Given the description of an element on the screen output the (x, y) to click on. 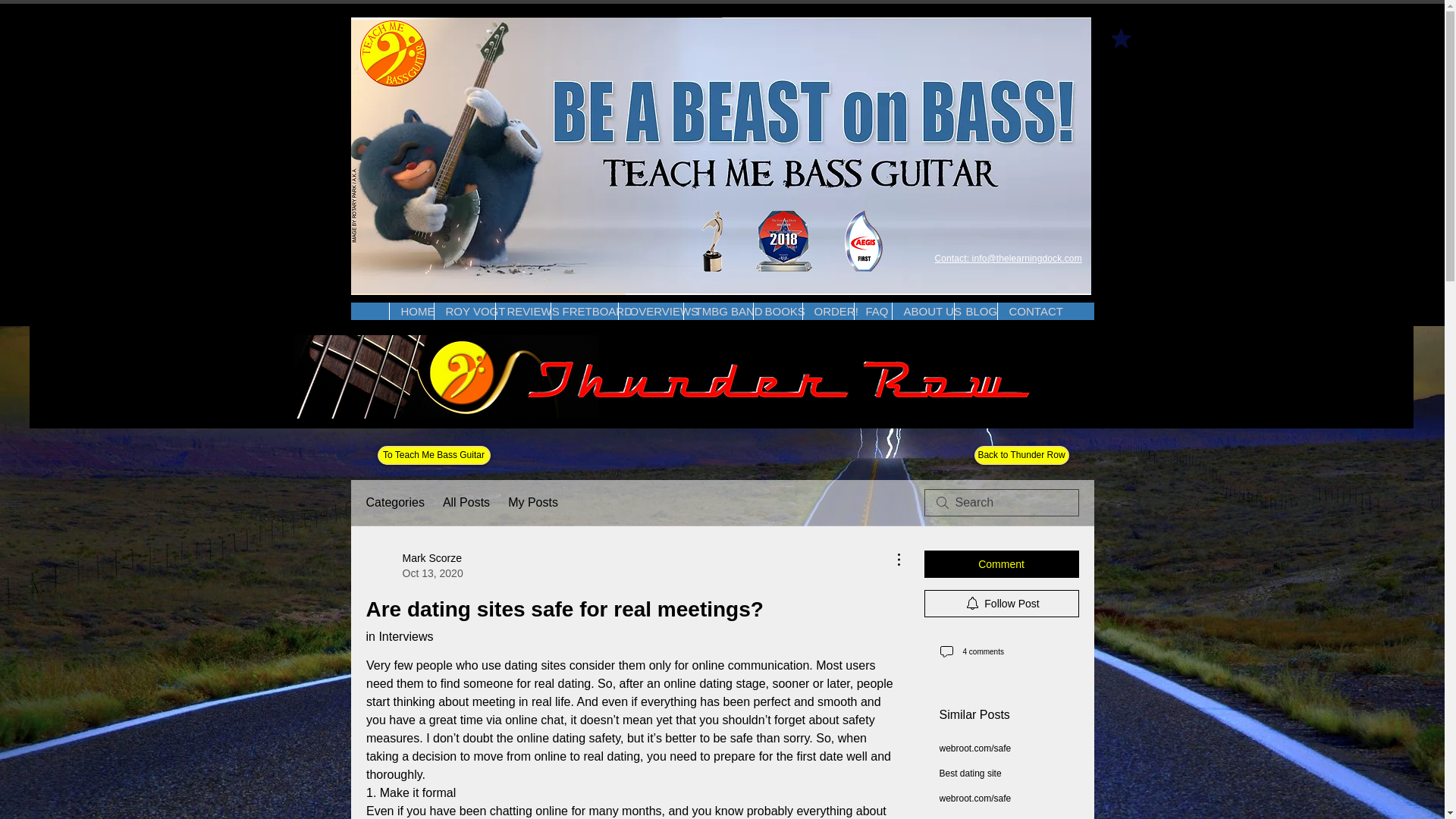
FRETBOARD (583, 311)
TMBG BAND (717, 311)
ROY VOGT (464, 311)
To Teach Me Bass Guitar (433, 455)
CONTACT (1025, 311)
BOOKS (777, 311)
REVIEWS (522, 311)
Back to Thunder Row (1021, 455)
All Posts (414, 565)
